Given the description of an element on the screen output the (x, y) to click on. 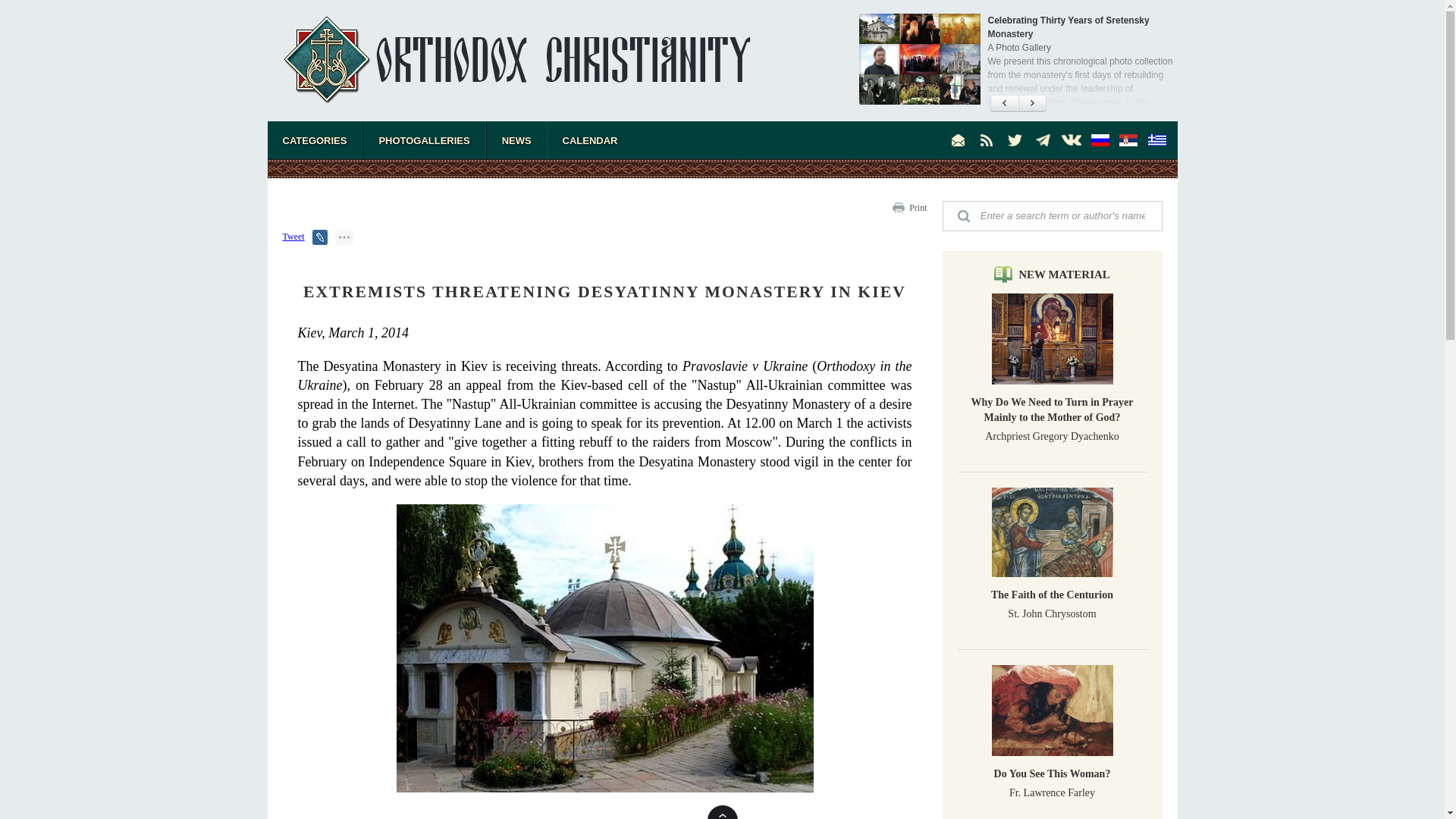
NEWS (516, 139)
Russian (1100, 139)
RSS (986, 139)
Telegram (1043, 139)
Twitter (1015, 139)
Tweet (293, 235)
CALENDAR (590, 139)
Sign up for our mailing list (958, 139)
Print (917, 207)
Greek (1155, 139)
VKontakte (1071, 139)
Serbian (1128, 139)
PHOTOGALLERIES (423, 139)
